Given the description of an element on the screen output the (x, y) to click on. 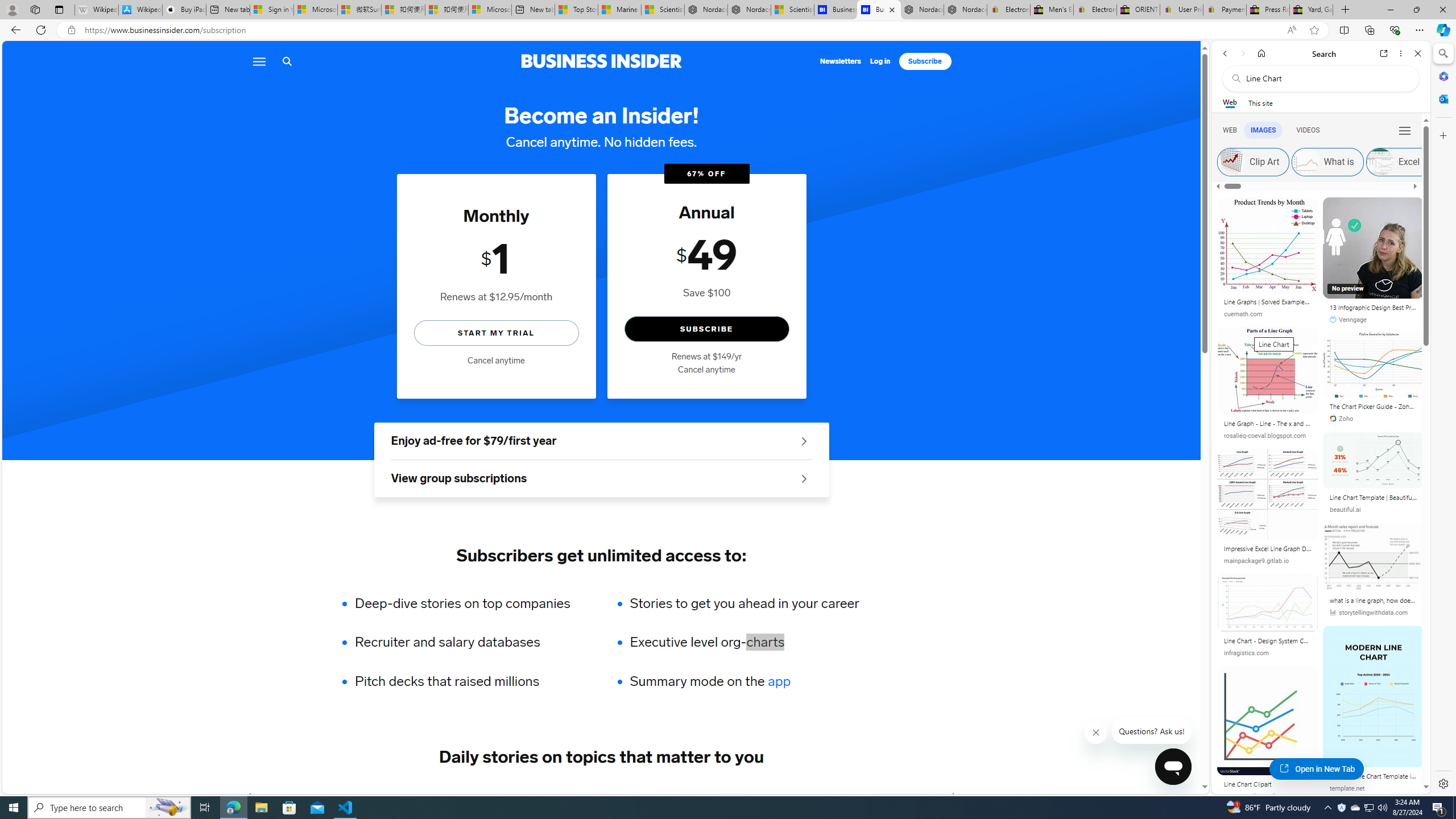
Image result for Line Chart (1373, 696)
TECH (280, 796)
View group subscriptions (601, 478)
Open messaging window (1172, 766)
Questions? Ask us! (1152, 731)
Stories to get you ahead in your career (743, 602)
View group subscriptions See group offers (601, 478)
Newsletters (840, 61)
